Given the description of an element on the screen output the (x, y) to click on. 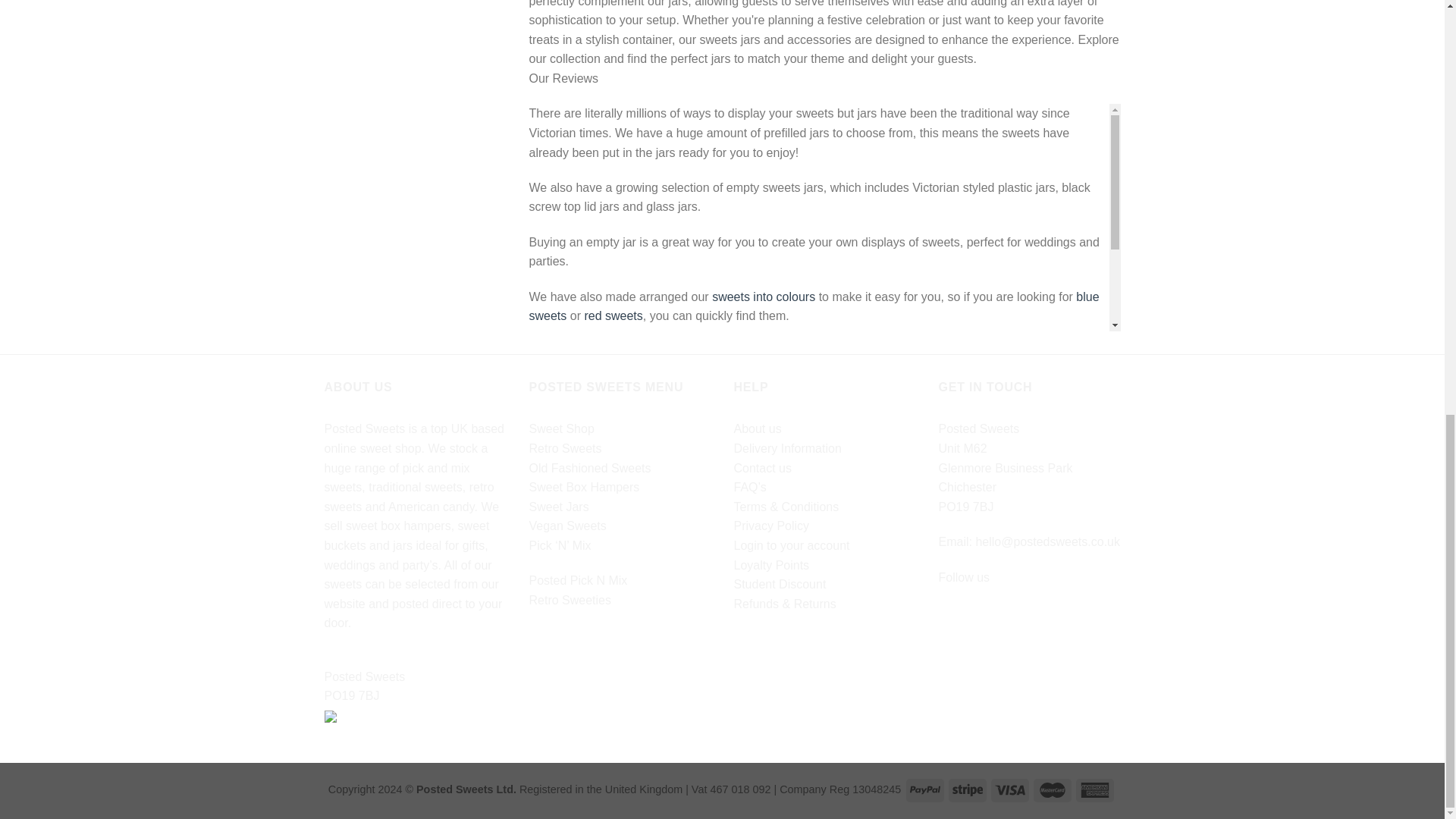
Follow on Facebook (951, 615)
Posted Sweets (415, 677)
Follow on Instagram (978, 615)
